Given the description of an element on the screen output the (x, y) to click on. 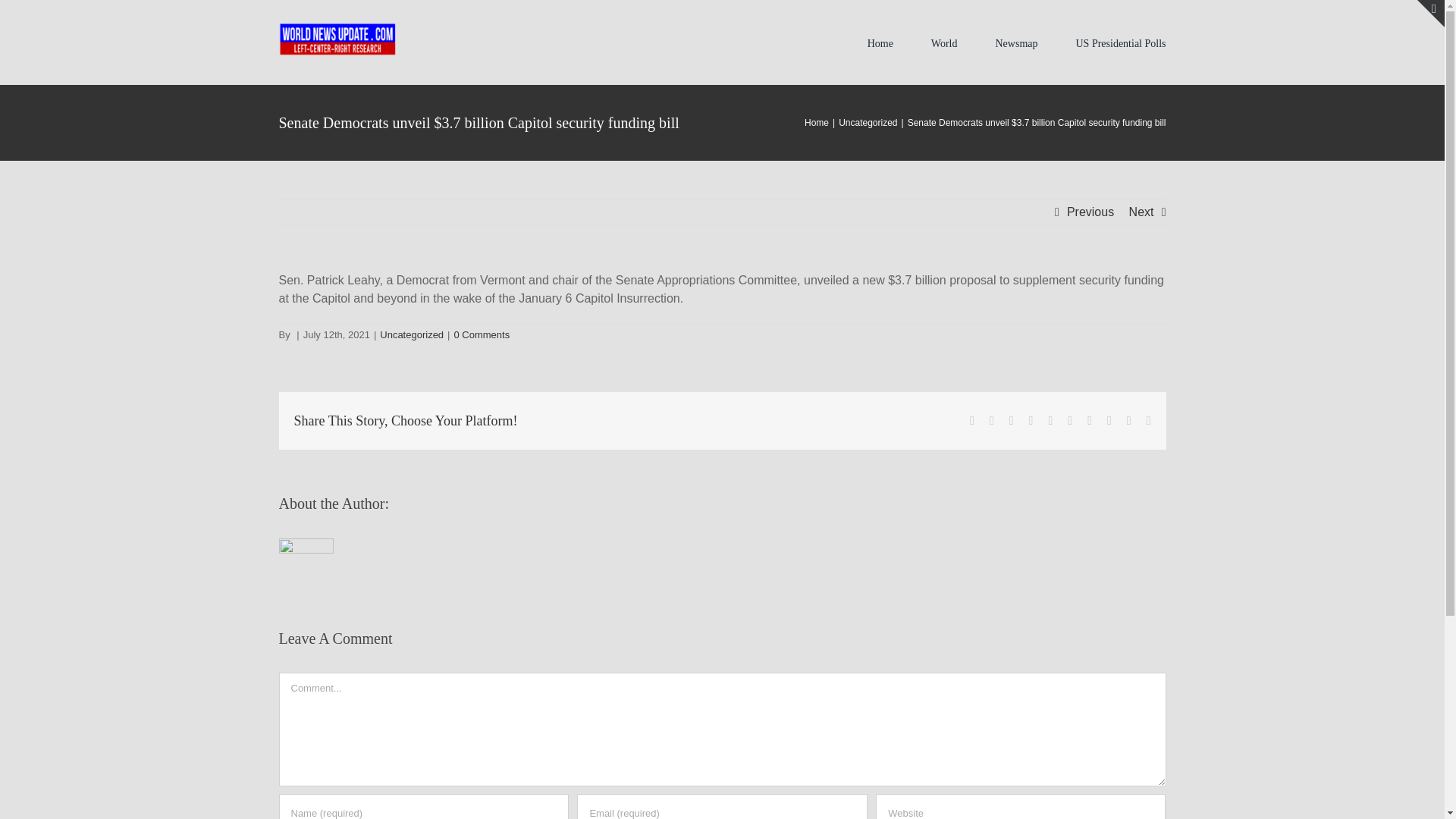
Uncategorized (867, 122)
Home (816, 122)
Newsmap (1015, 42)
Previous (1090, 212)
Next (1141, 212)
US Presidential Polls (1120, 42)
0 Comments (480, 334)
Uncategorized (412, 334)
